Given the description of an element on the screen output the (x, y) to click on. 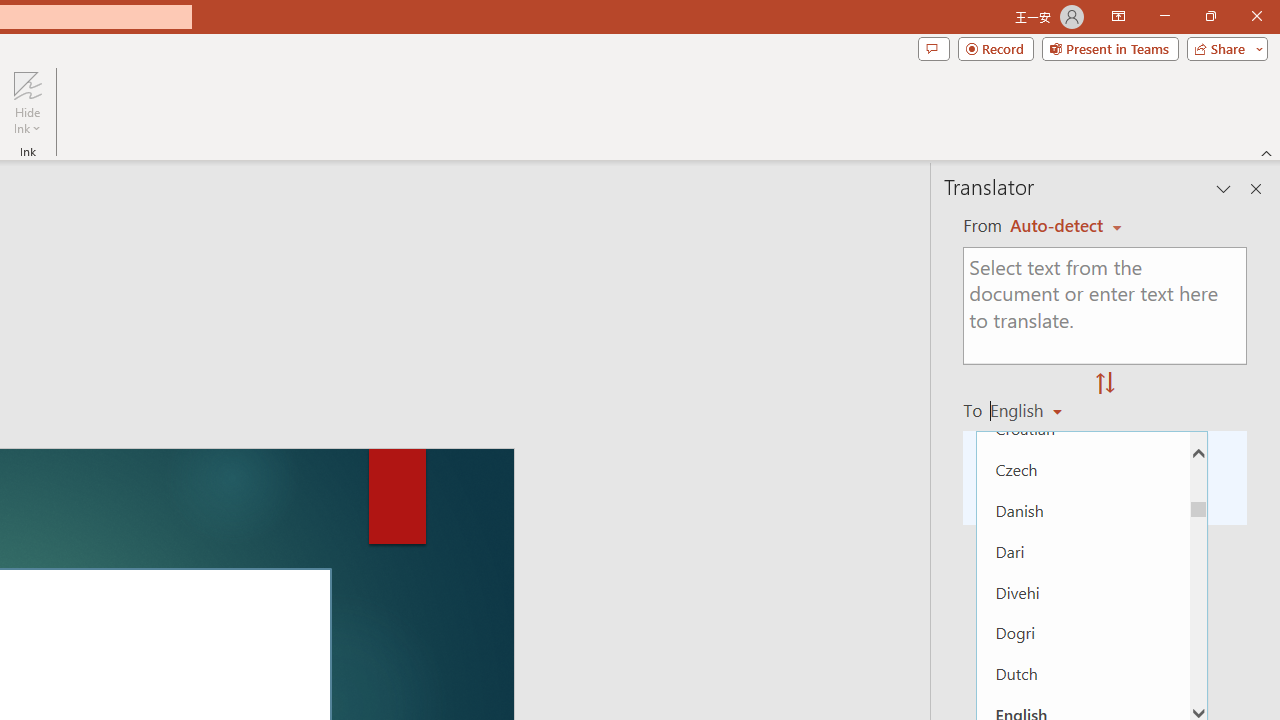
Swap "from" and "to" languages. (1105, 383)
Dari (1083, 549)
Chinese Traditional (1083, 387)
Croatian (1083, 428)
Danish (1083, 509)
Dutch (1083, 673)
Divehi (1083, 591)
English (1033, 409)
